Given the description of an element on the screen output the (x, y) to click on. 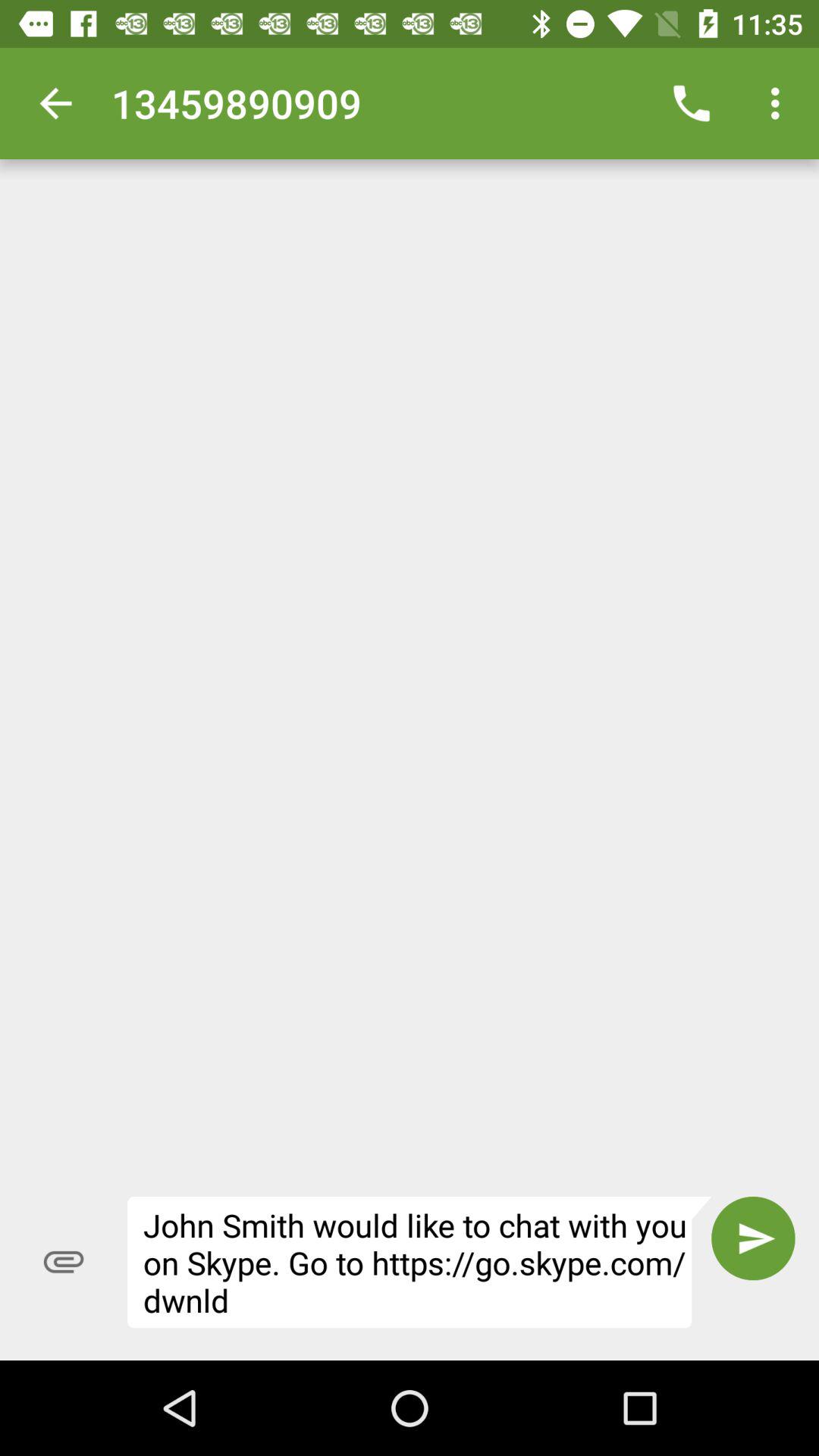
press john smith would icon (419, 1262)
